Given the description of an element on the screen output the (x, y) to click on. 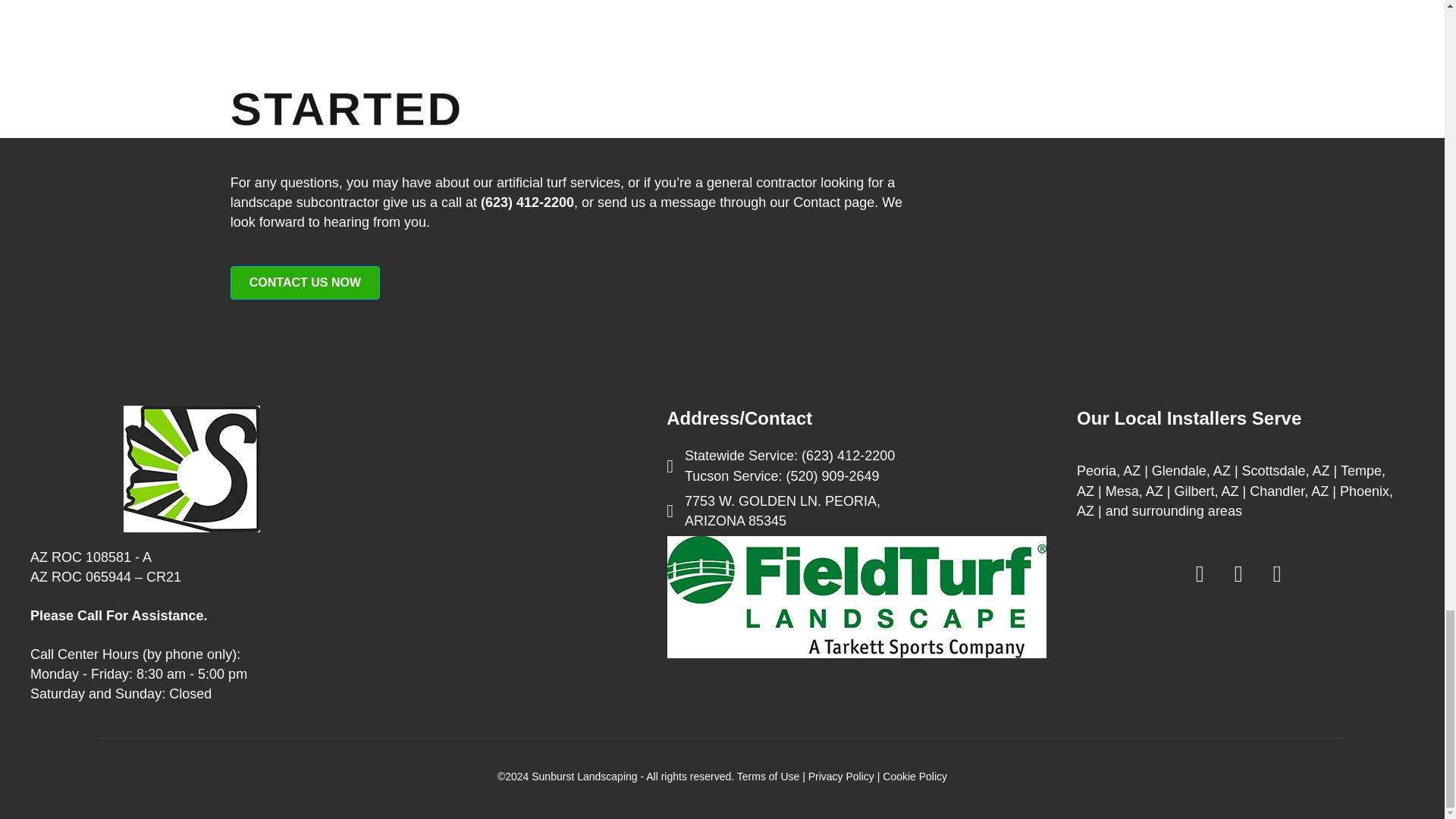
Sunburst S in AZ State Shape (191, 468)
FieldTurf Landscape logo (856, 597)
